Given the description of an element on the screen output the (x, y) to click on. 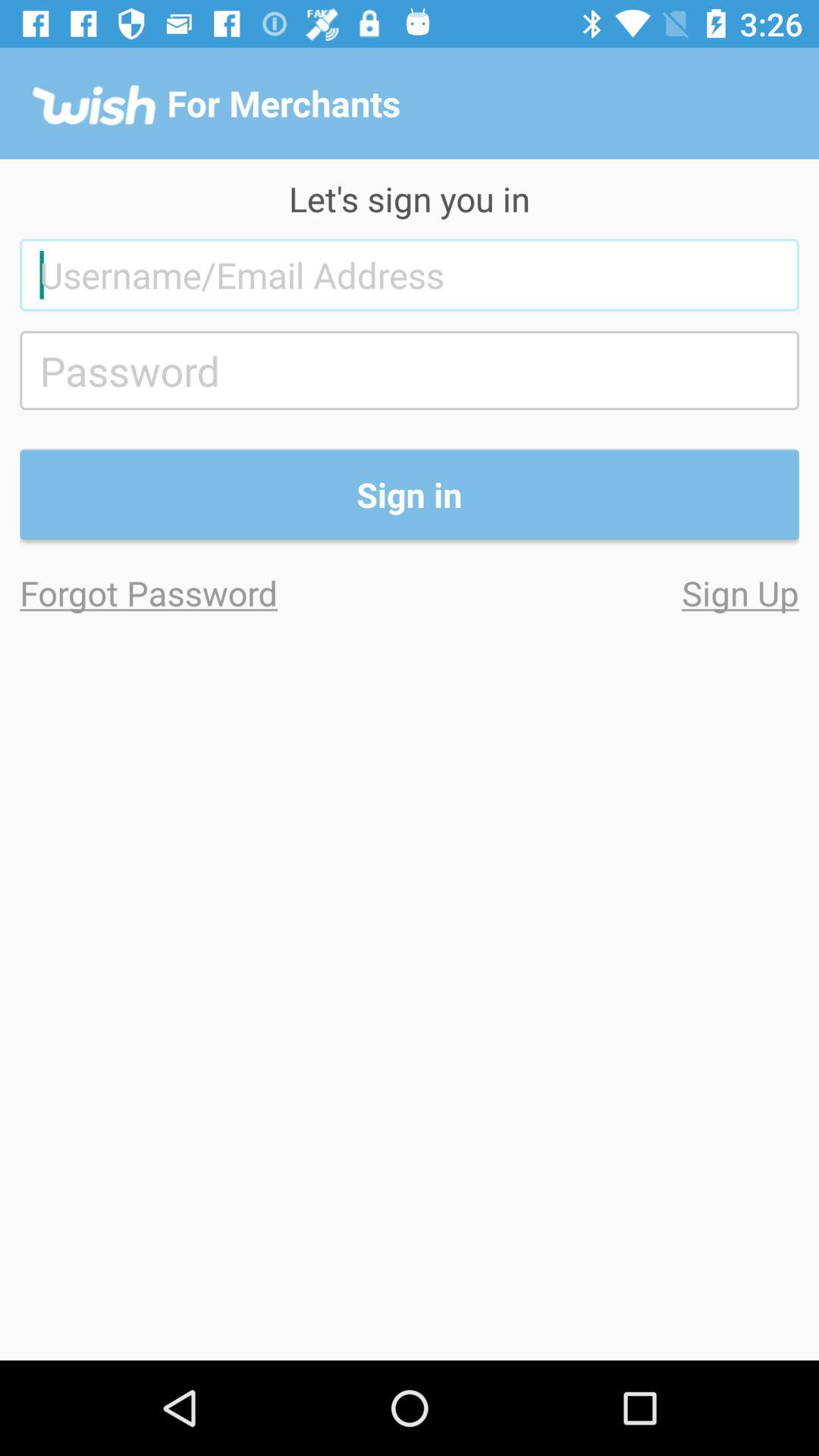
turn off item next to the forgot password icon (604, 592)
